Given the description of an element on the screen output the (x, y) to click on. 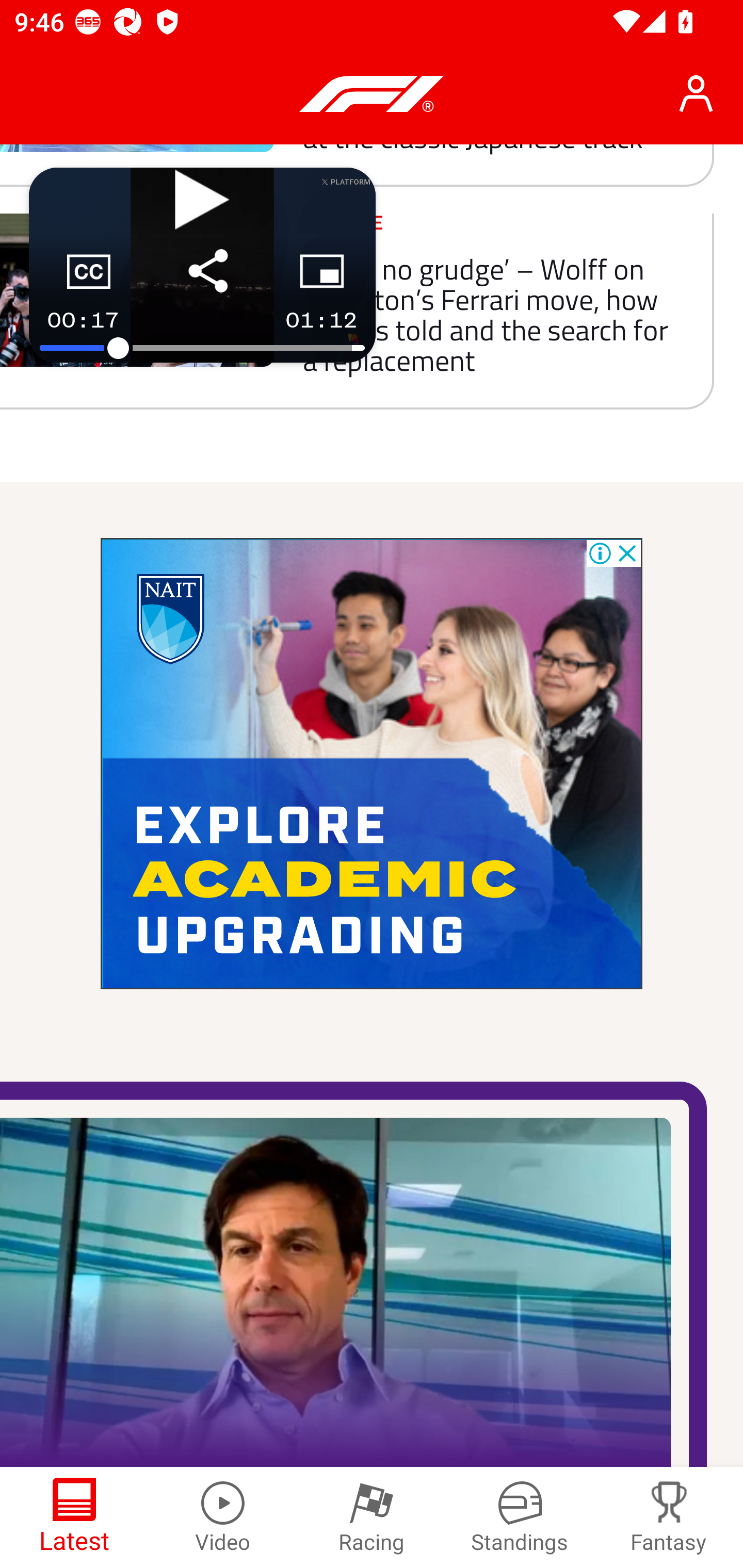
Video (222, 1517)
Racing (371, 1517)
Standings (519, 1517)
Fantasy (668, 1517)
